Given the description of an element on the screen output the (x, y) to click on. 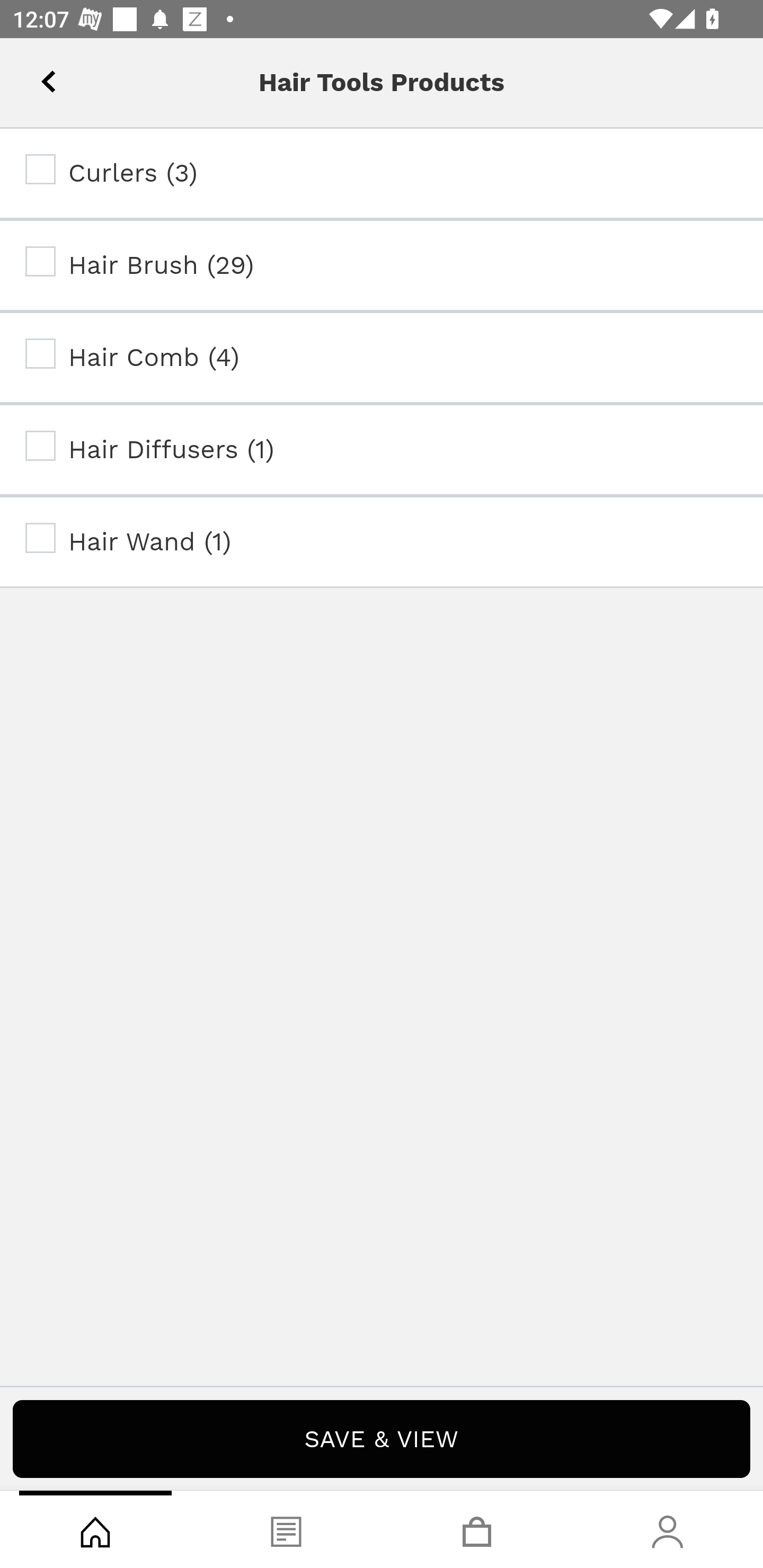
Open Menu (38, 75)
Open search (114, 75)
Lookfantastic USA (381, 75)
FREE US Shipping Over $40 (381, 157)
Shop, tab, 1 of 4 (95, 1529)
Blog, tab, 2 of 4 (285, 1529)
Basket, tab, 3 of 4 (476, 1529)
Account, tab, 4 of 4 (667, 1529)
